Given the description of an element on the screen output the (x, y) to click on. 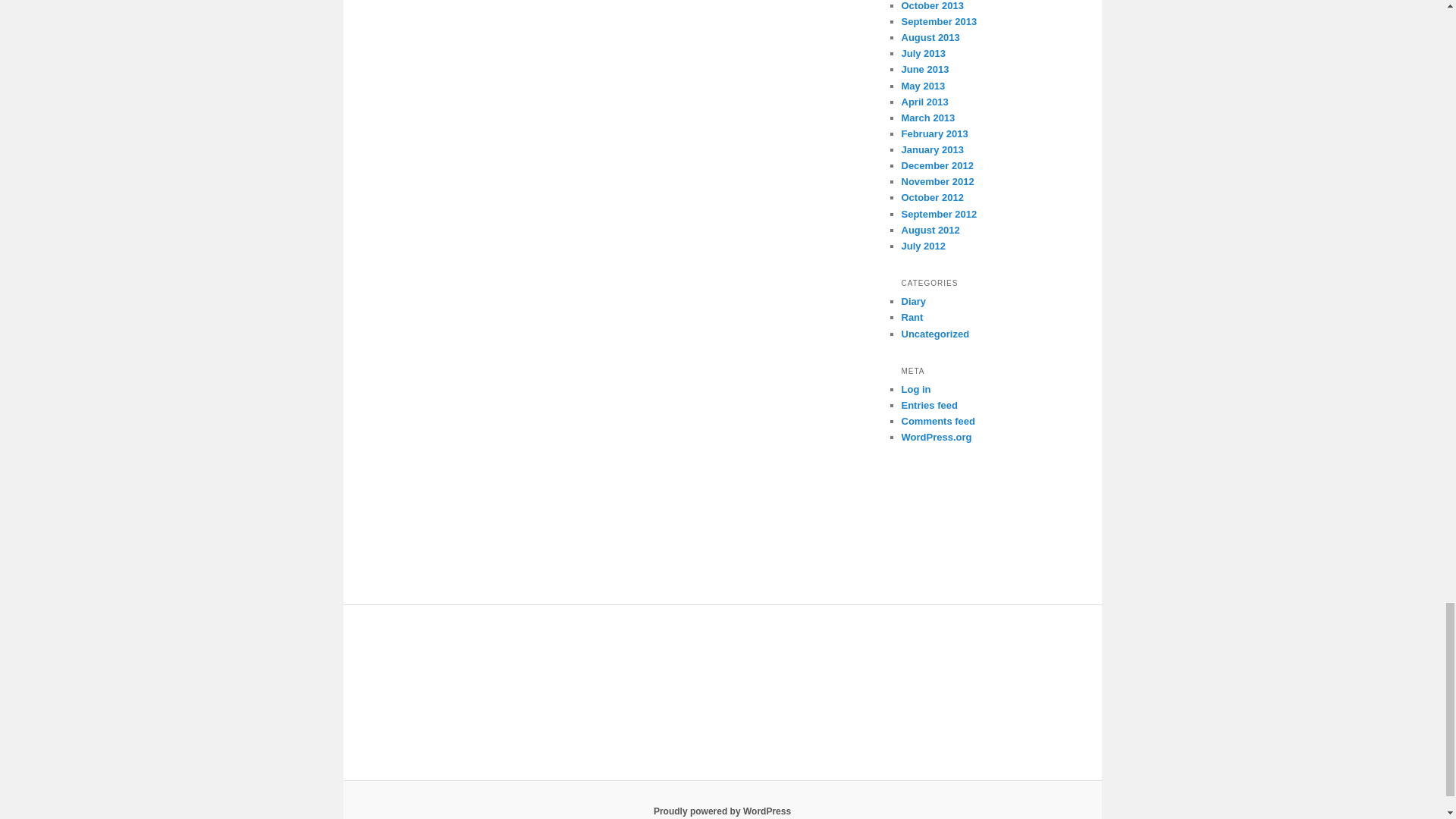
Semantic Personal Publishing Platform (721, 810)
